Given the description of an element on the screen output the (x, y) to click on. 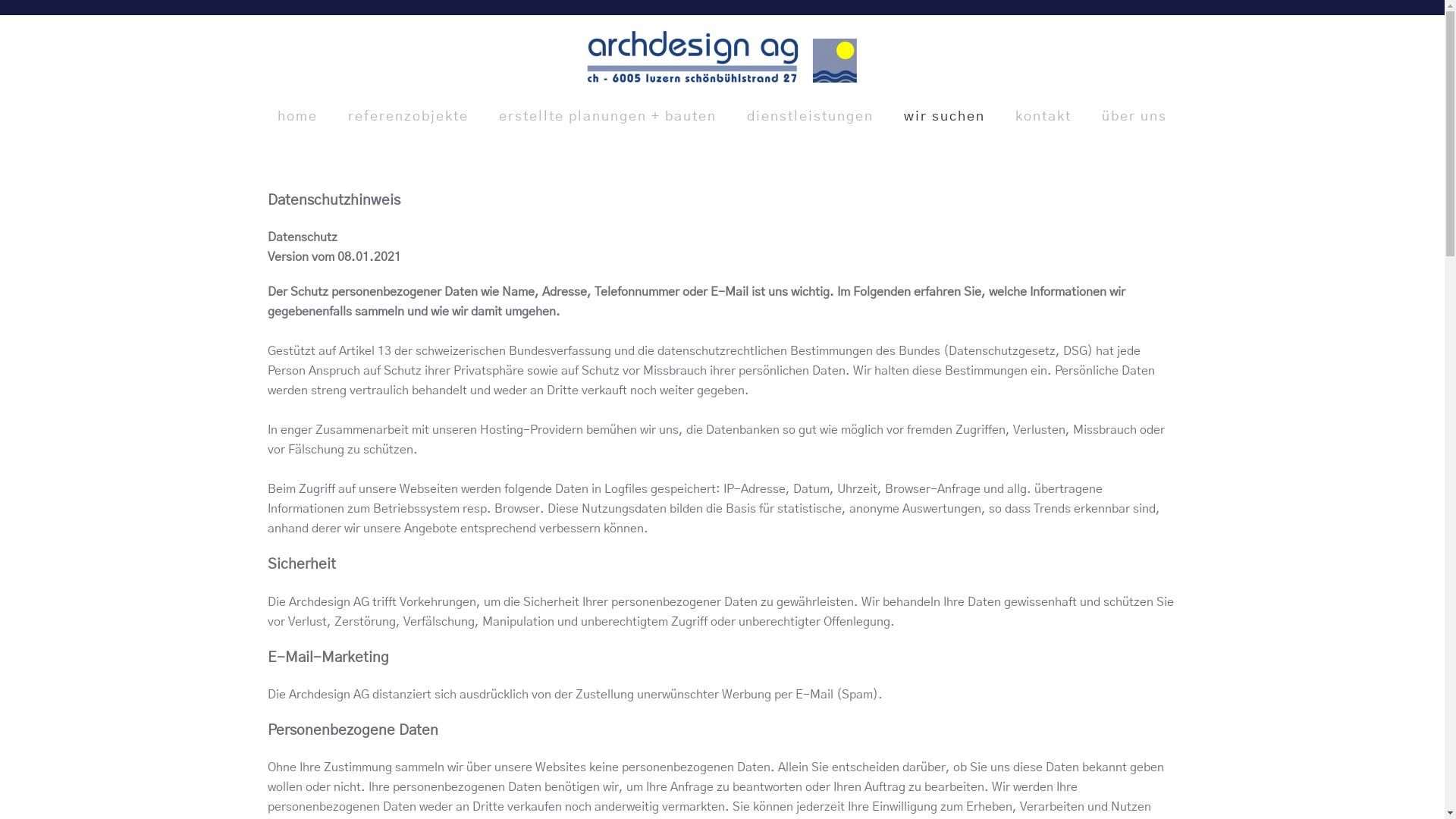
dienstleistungen Element type: text (809, 117)
erstellte planungen + bauten Element type: text (607, 117)
referenzobjekte Element type: text (407, 117)
home Element type: text (297, 117)
kontakt Element type: text (1043, 117)
wir suchen Element type: text (944, 117)
